Given the description of an element on the screen output the (x, y) to click on. 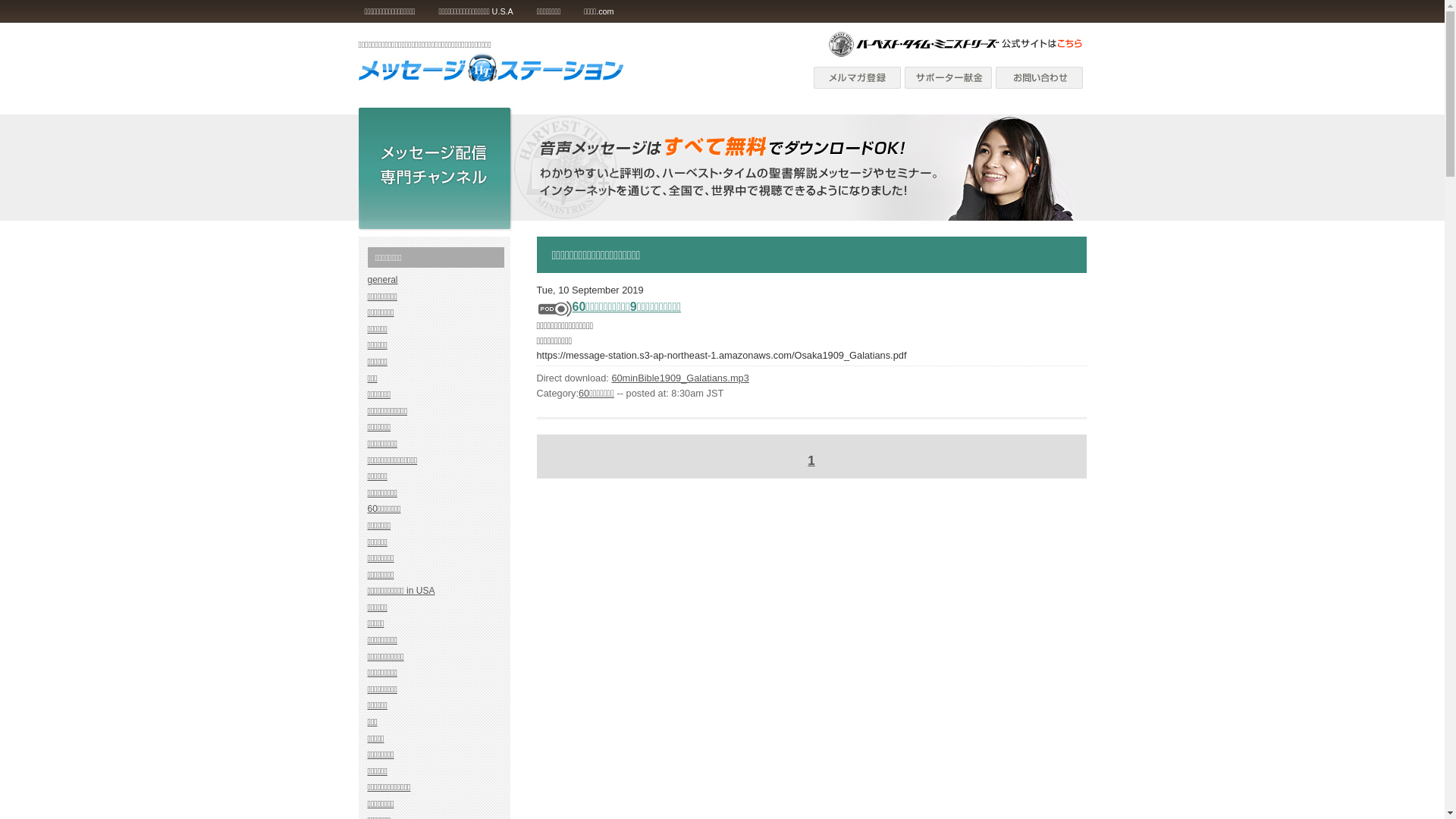
1 Element type: text (810, 460)
general Element type: text (382, 279)
60minBible1909_Galatians.mp3 Element type: text (679, 377)
